Given the description of an element on the screen output the (x, y) to click on. 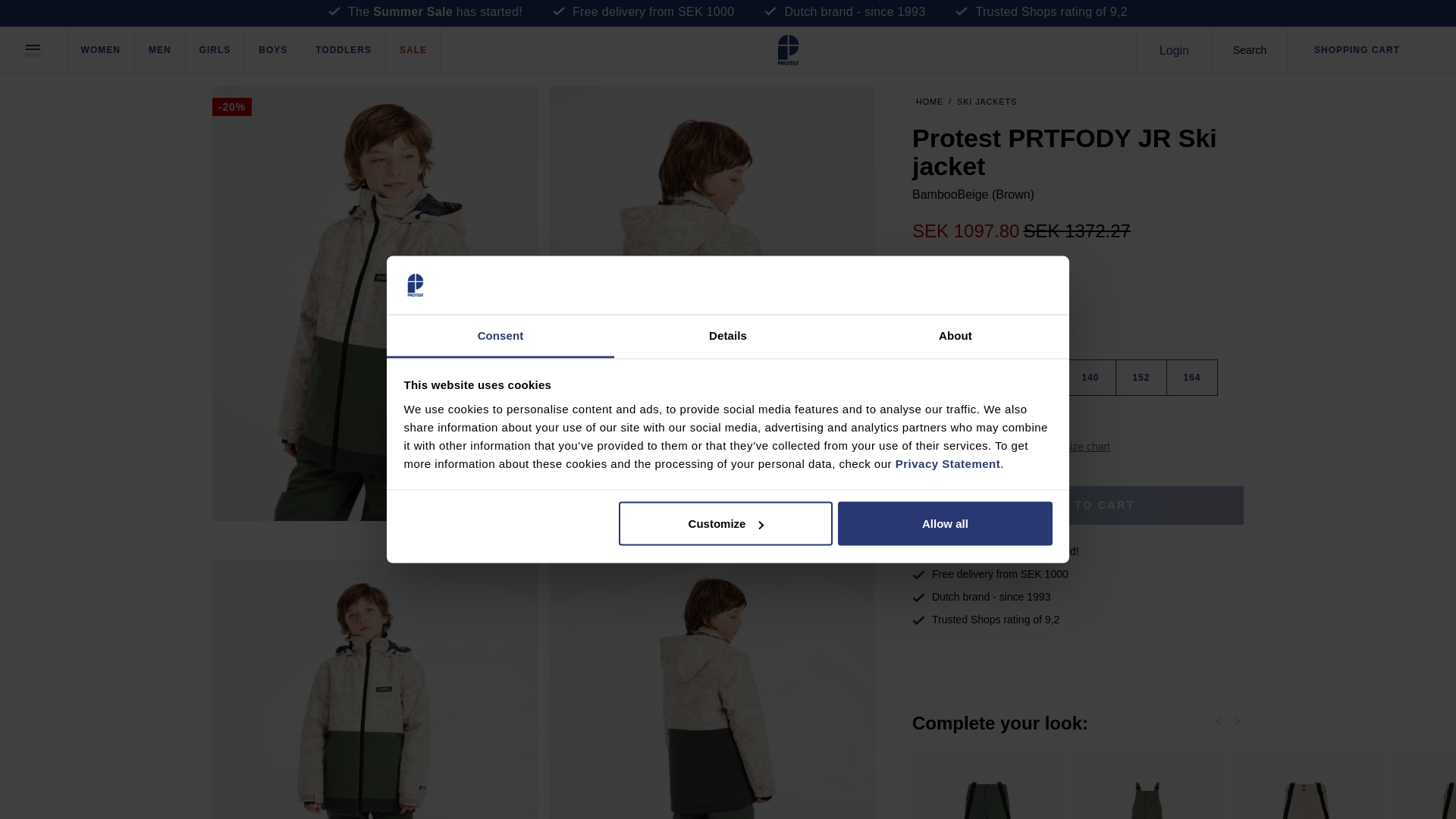
Consent (500, 335)
Privacy Statement (948, 462)
Details (727, 335)
About (954, 335)
